Given the description of an element on the screen output the (x, y) to click on. 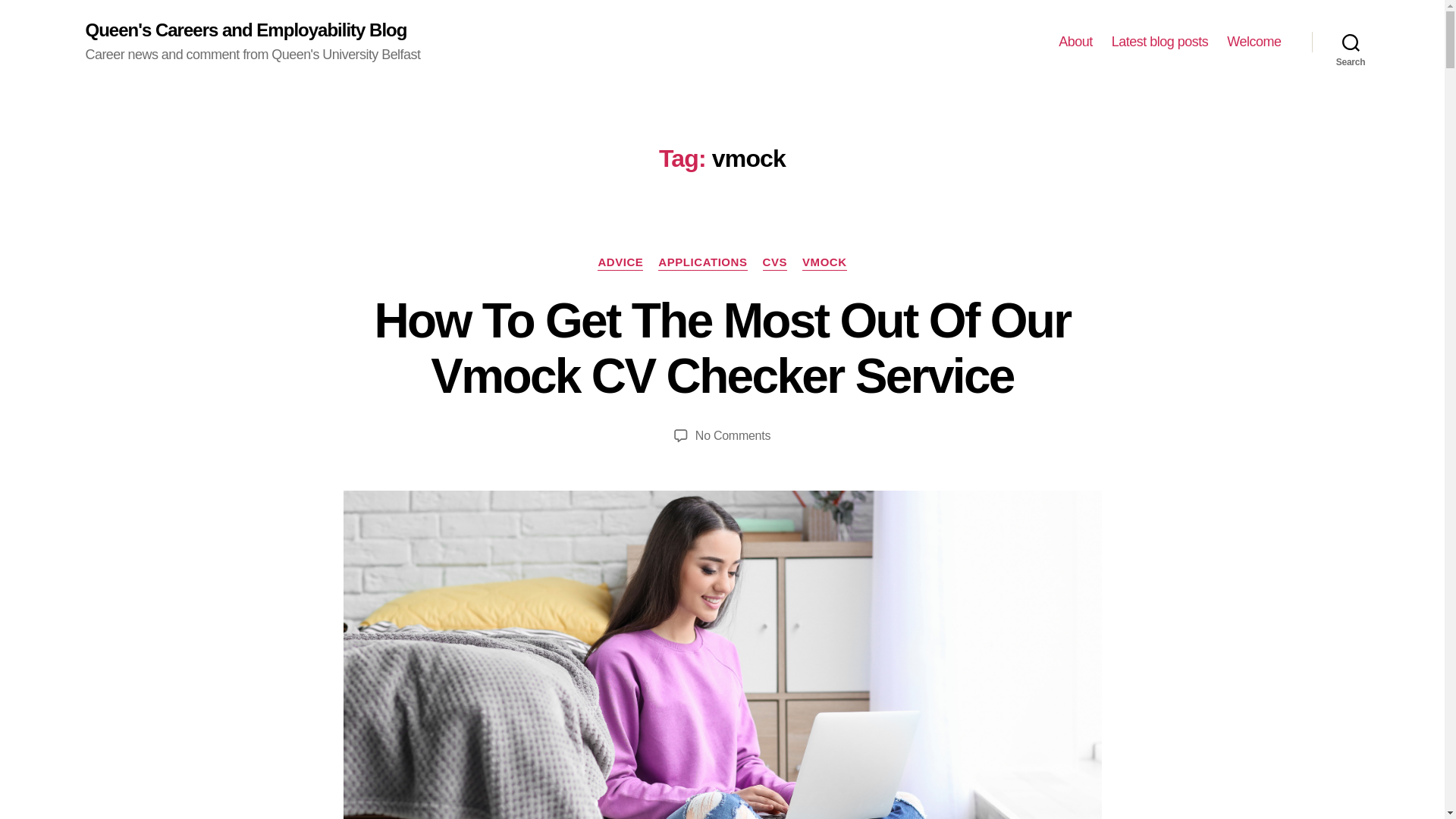
Queen's Careers and Employability Blog (245, 30)
Search (1350, 41)
How To Get The Most Out Of Our Vmock CV Checker Service (722, 348)
VMOCK (824, 263)
APPLICATIONS (702, 263)
CVS (774, 263)
Welcome (1254, 42)
About (1075, 42)
Latest blog posts (1160, 42)
ADVICE (619, 263)
